Given the description of an element on the screen output the (x, y) to click on. 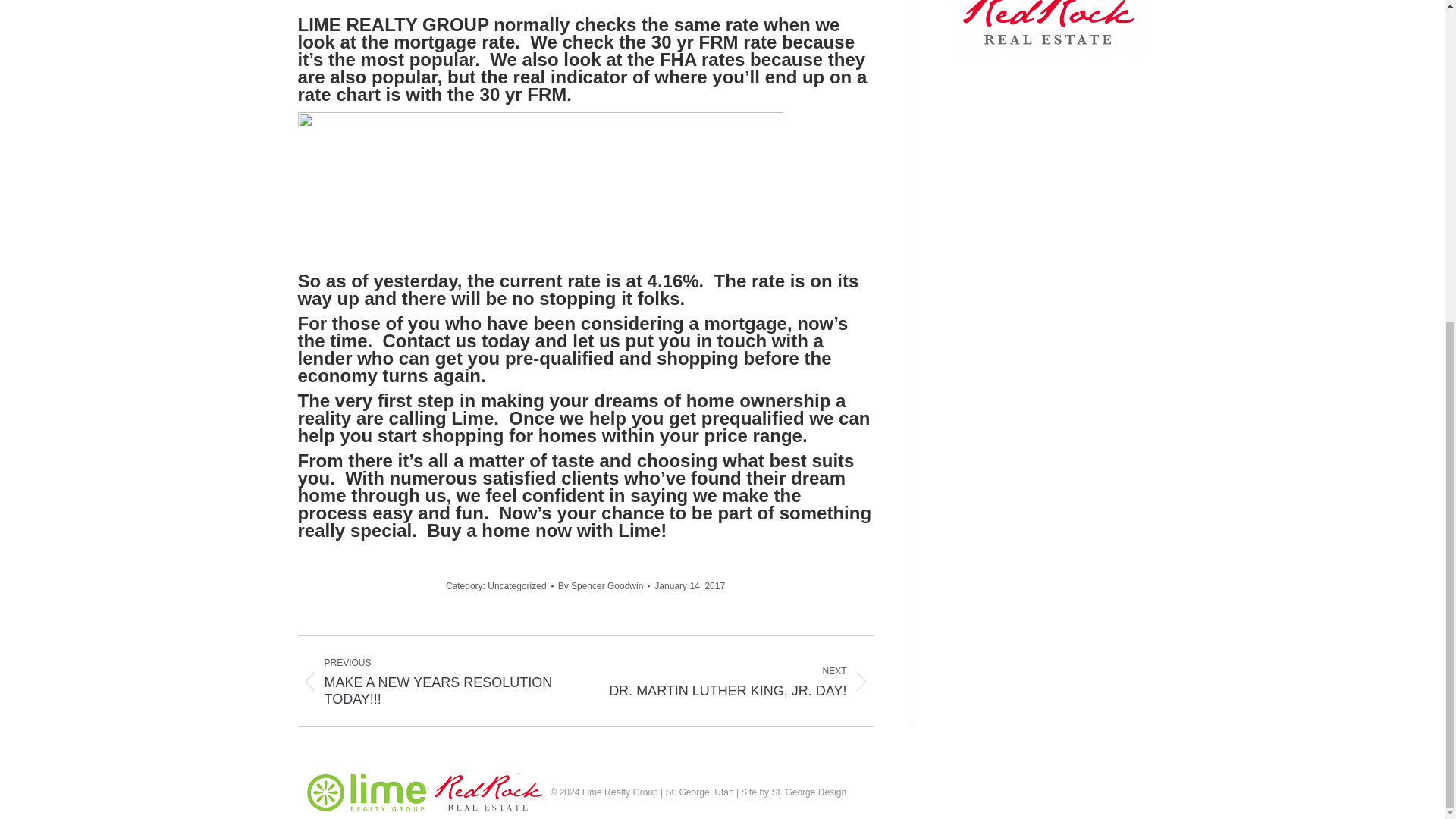
By Spencer Goodwin (740, 681)
View all posts by Spencer Goodwin (603, 585)
January 14, 2017 (603, 585)
8:11 pm (689, 585)
Uncategorized (689, 585)
St. George Design (516, 585)
